Given the description of an element on the screen output the (x, y) to click on. 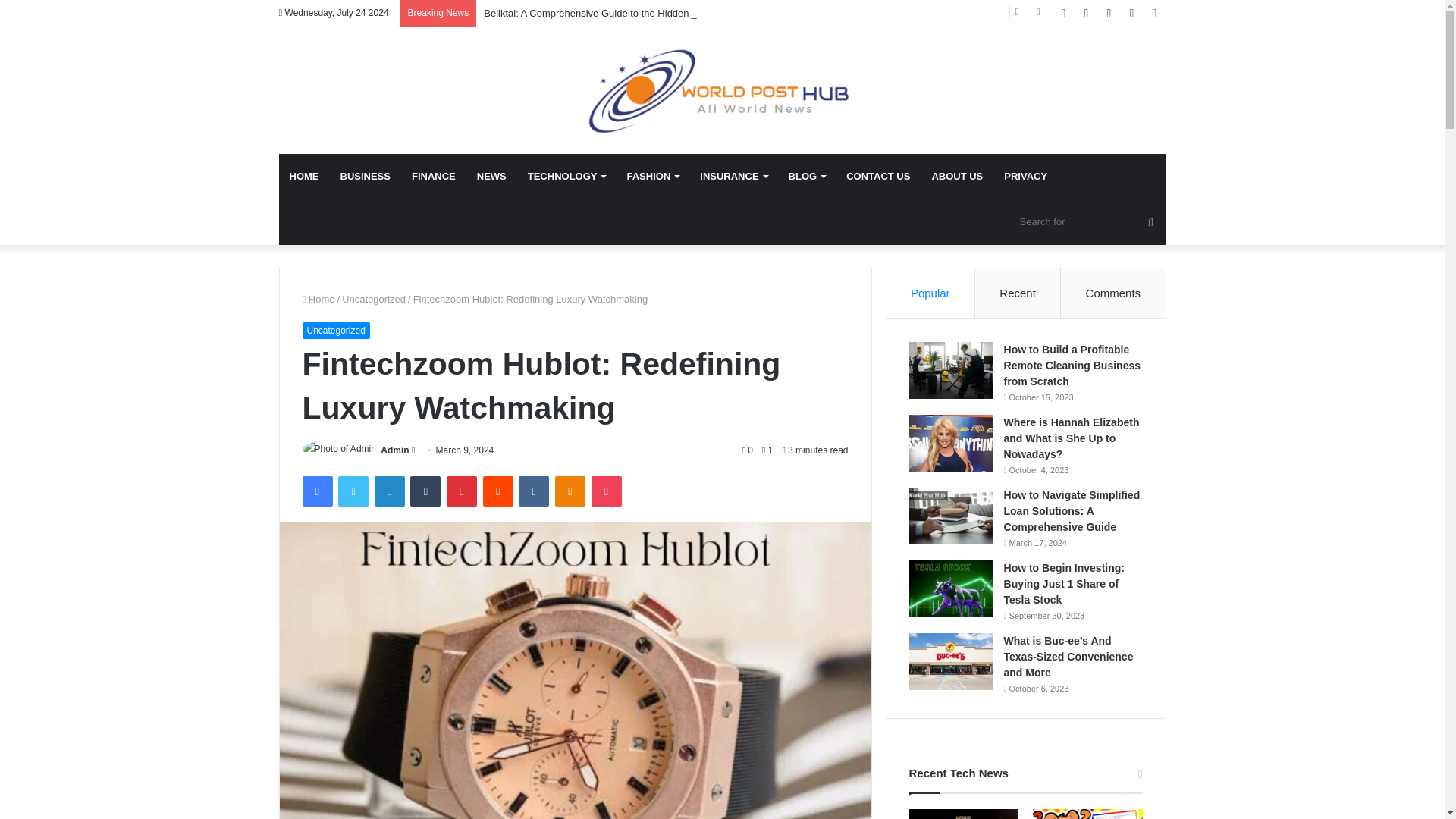
Pinterest (461, 490)
Admin (394, 450)
HOME (304, 176)
BLOG (806, 176)
INSURANCE (732, 176)
Tumblr (425, 490)
TECHNOLOGY (565, 176)
Odnoklassniki (569, 490)
Admin (394, 450)
CONTACT US (877, 176)
Uncategorized (335, 330)
VKontakte (533, 490)
FINANCE (433, 176)
Reddit (498, 490)
LinkedIn (389, 490)
